Given the description of an element on the screen output the (x, y) to click on. 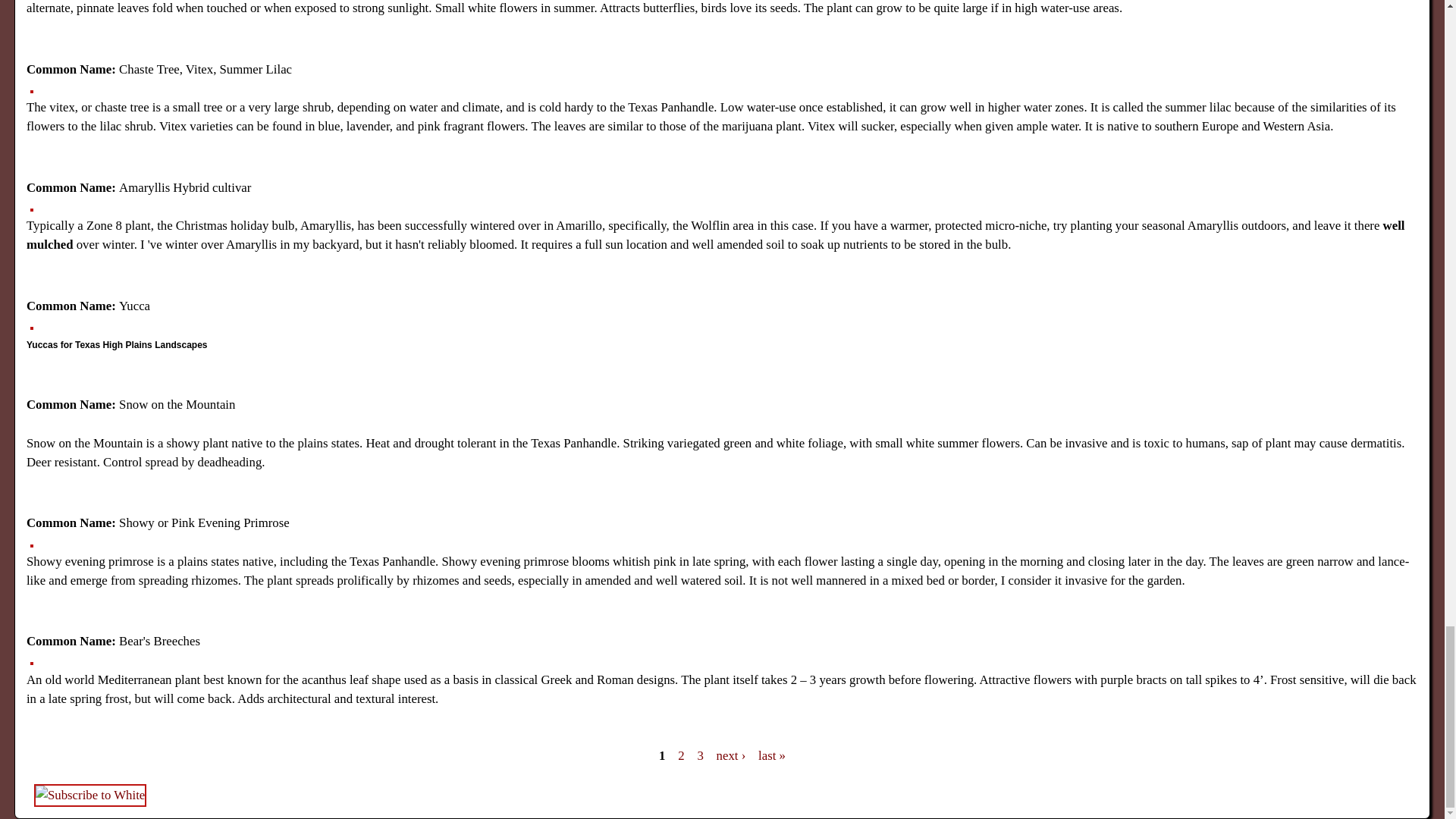
Go to last page (772, 755)
Go to next page (730, 755)
Subscribe to White (89, 794)
